Given the description of an element on the screen output the (x, y) to click on. 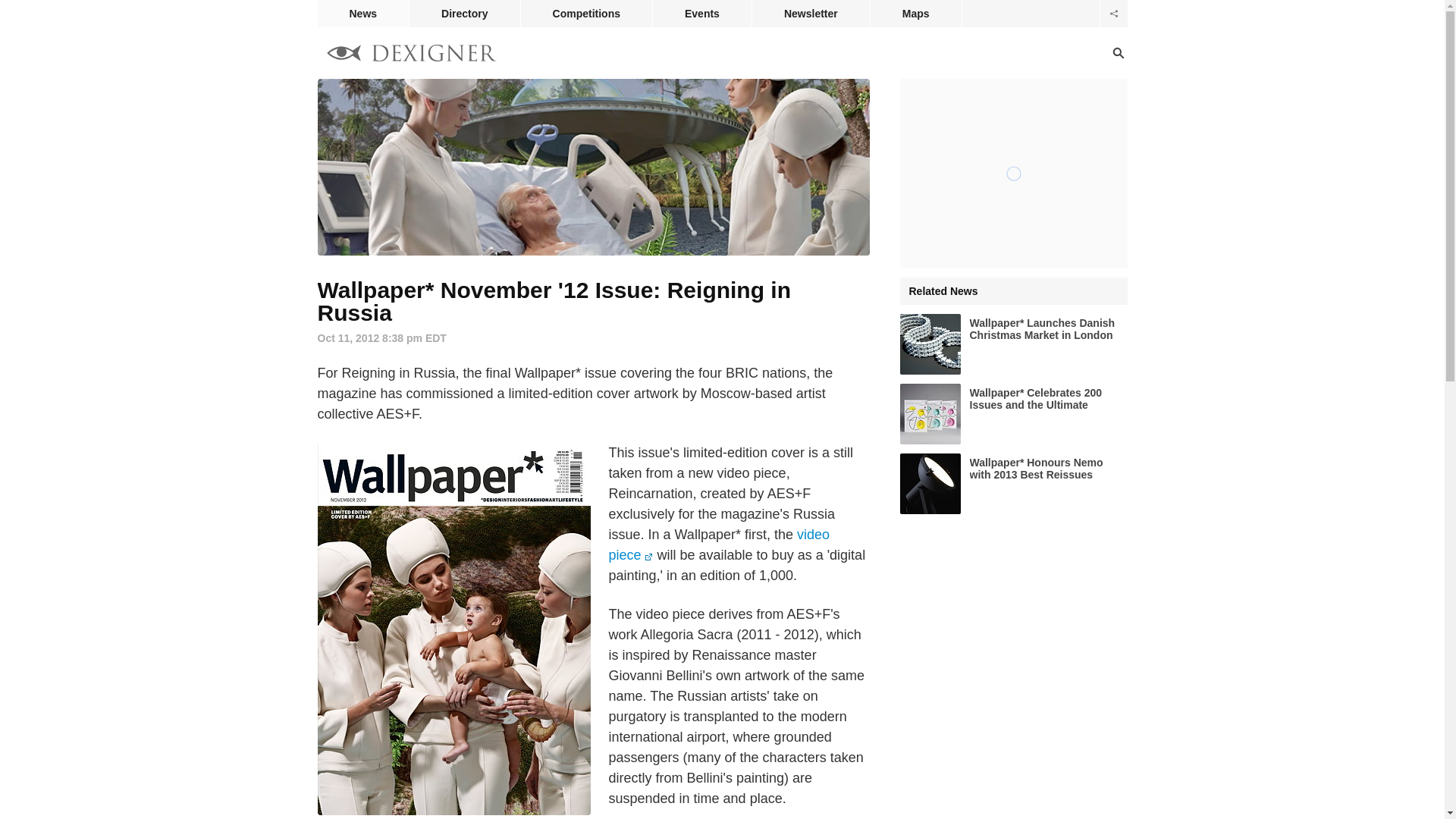
video piece (718, 544)
Directory (464, 13)
Dexigner (411, 54)
Newsletter (810, 13)
Maps (915, 13)
Events (701, 13)
follow dexigner (1112, 13)
Competitions (586, 13)
News (363, 13)
